Given the description of an element on the screen output the (x, y) to click on. 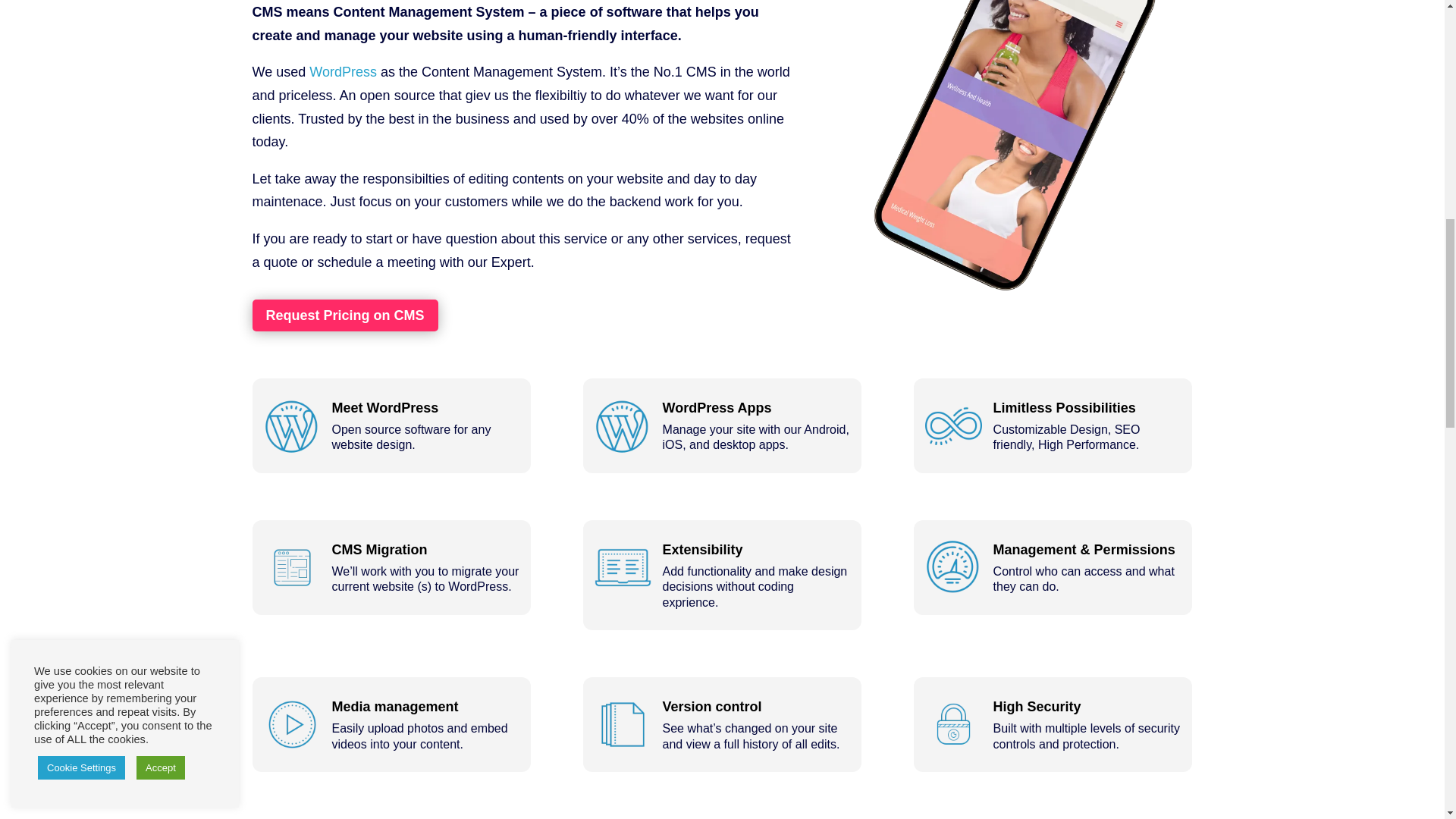
gllc-phone (1019, 157)
